Given the description of an element on the screen output the (x, y) to click on. 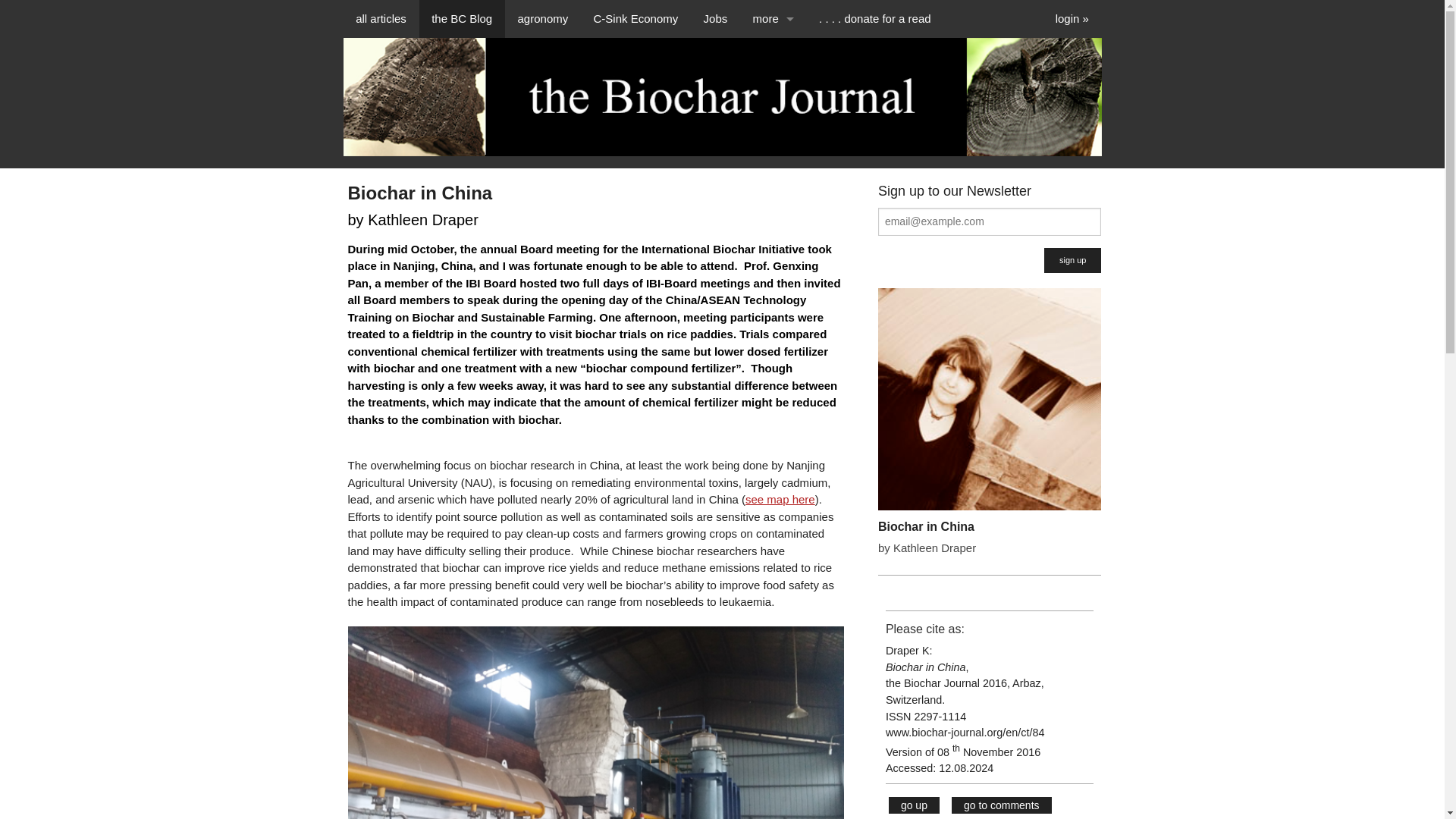
more (772, 18)
all articles (380, 18)
see map here (780, 499)
sign up (1071, 260)
sign up (1071, 260)
the BC Blog (461, 18)
Jobs (714, 18)
Jobs (714, 18)
agronomy (542, 18)
agronomy (542, 18)
